Given the description of an element on the screen output the (x, y) to click on. 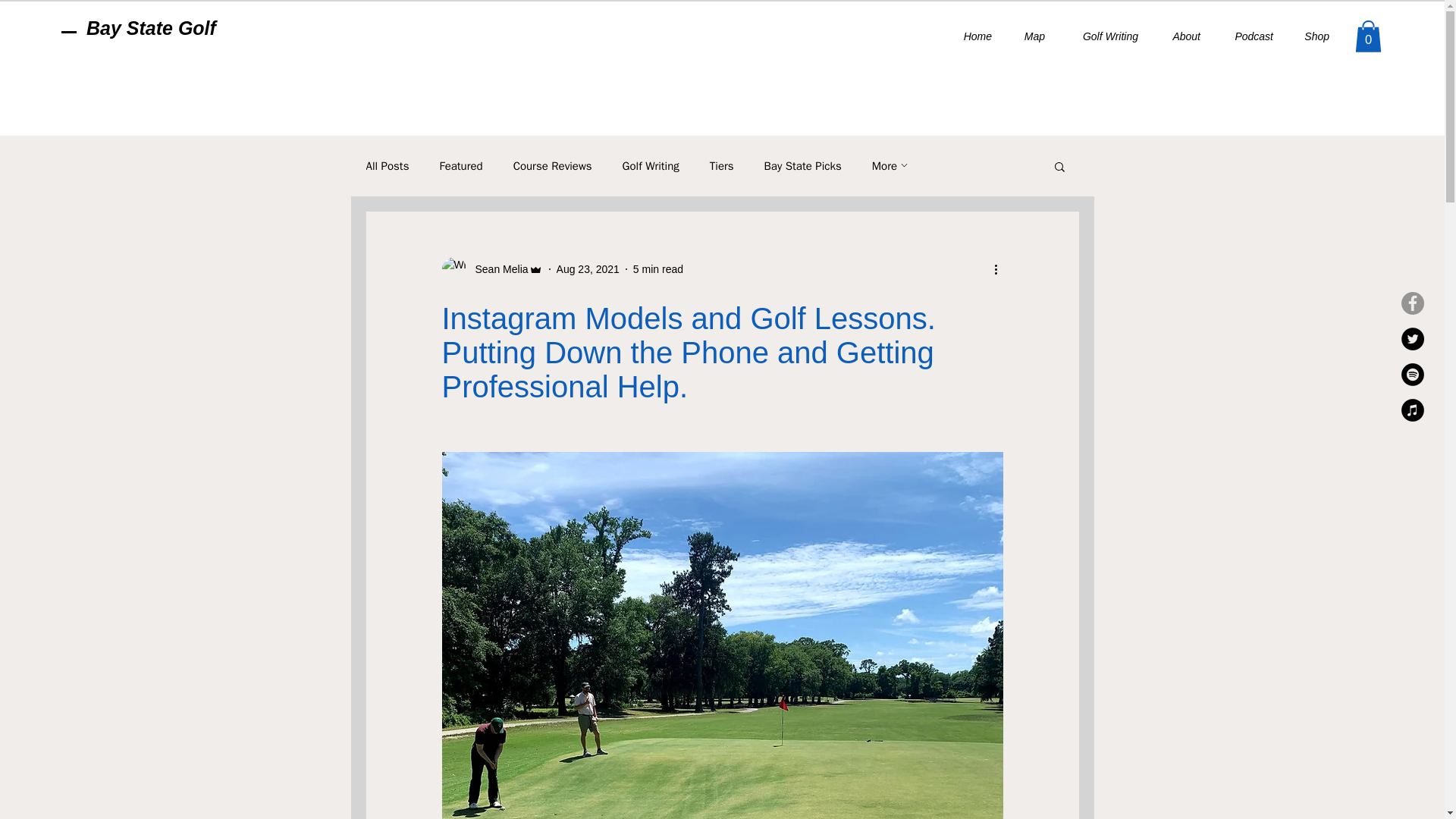
Shop (1312, 36)
Golf Writing (1103, 36)
Golf Writing (651, 165)
Tiers (721, 165)
Sean Melia (491, 269)
Map (1030, 36)
Sean Melia (496, 268)
Featured (460, 165)
Bay State Golf (150, 27)
All Posts (387, 165)
About (1180, 36)
Bay State Picks (802, 165)
Podcast (1247, 36)
Home (971, 36)
Course Reviews (552, 165)
